Given the description of an element on the screen output the (x, y) to click on. 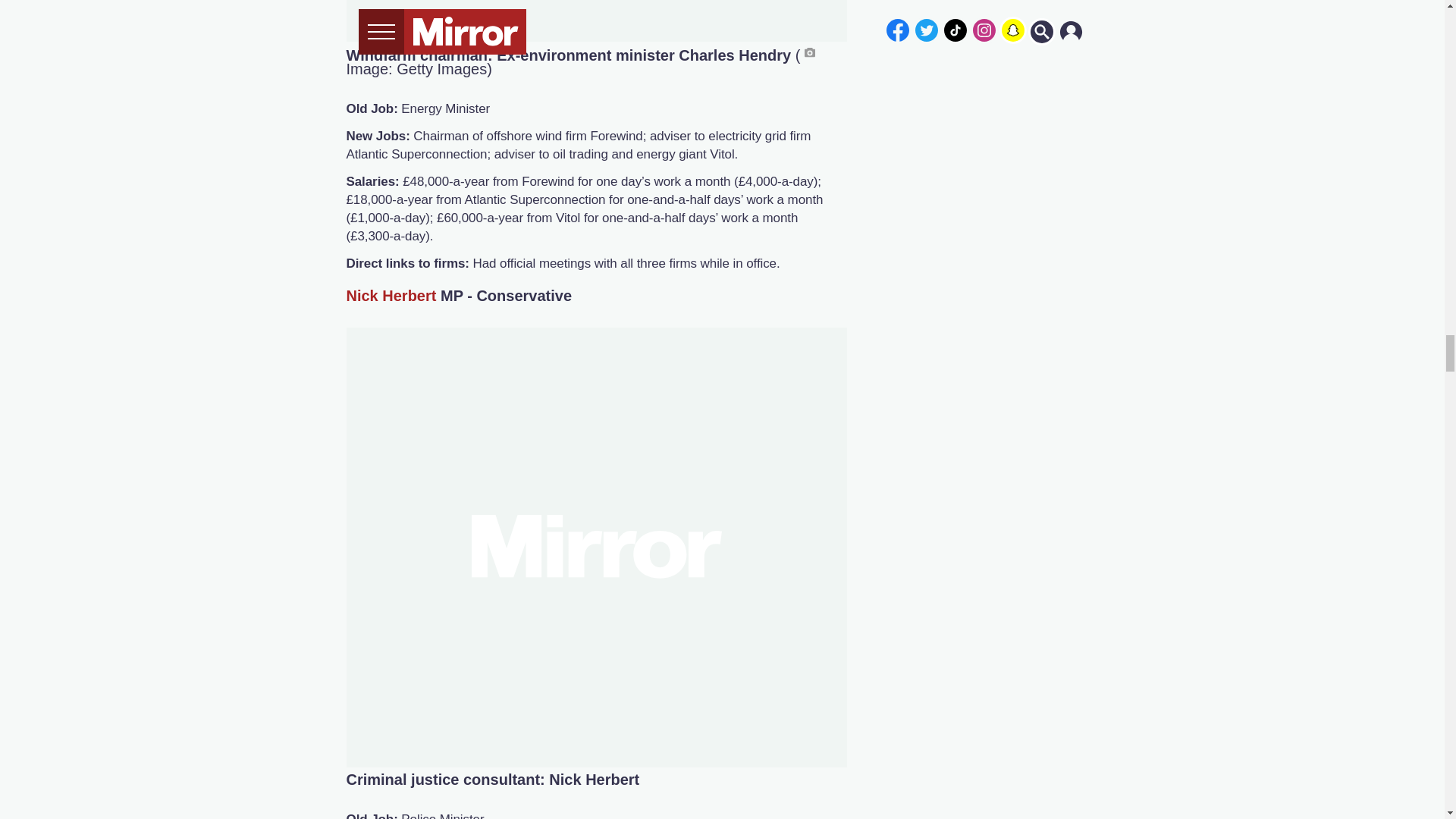
Nick Herbert (390, 294)
